Given the description of an element on the screen output the (x, y) to click on. 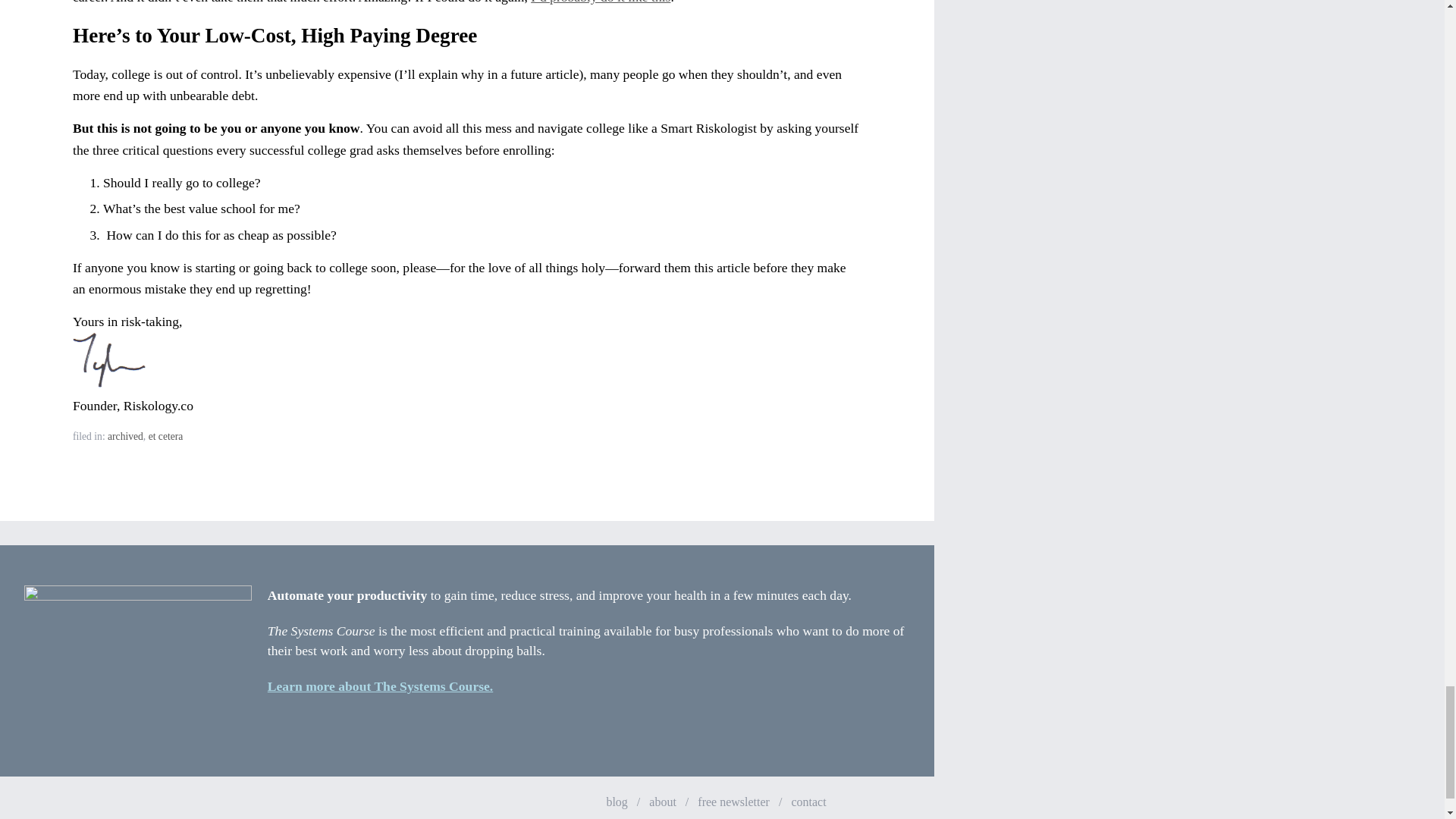
about (663, 801)
free newsletter (733, 801)
et cetera (165, 436)
archived (124, 436)
Learn more about The Systems Course. (380, 685)
blog (616, 801)
contact (807, 801)
